Given the description of an element on the screen output the (x, y) to click on. 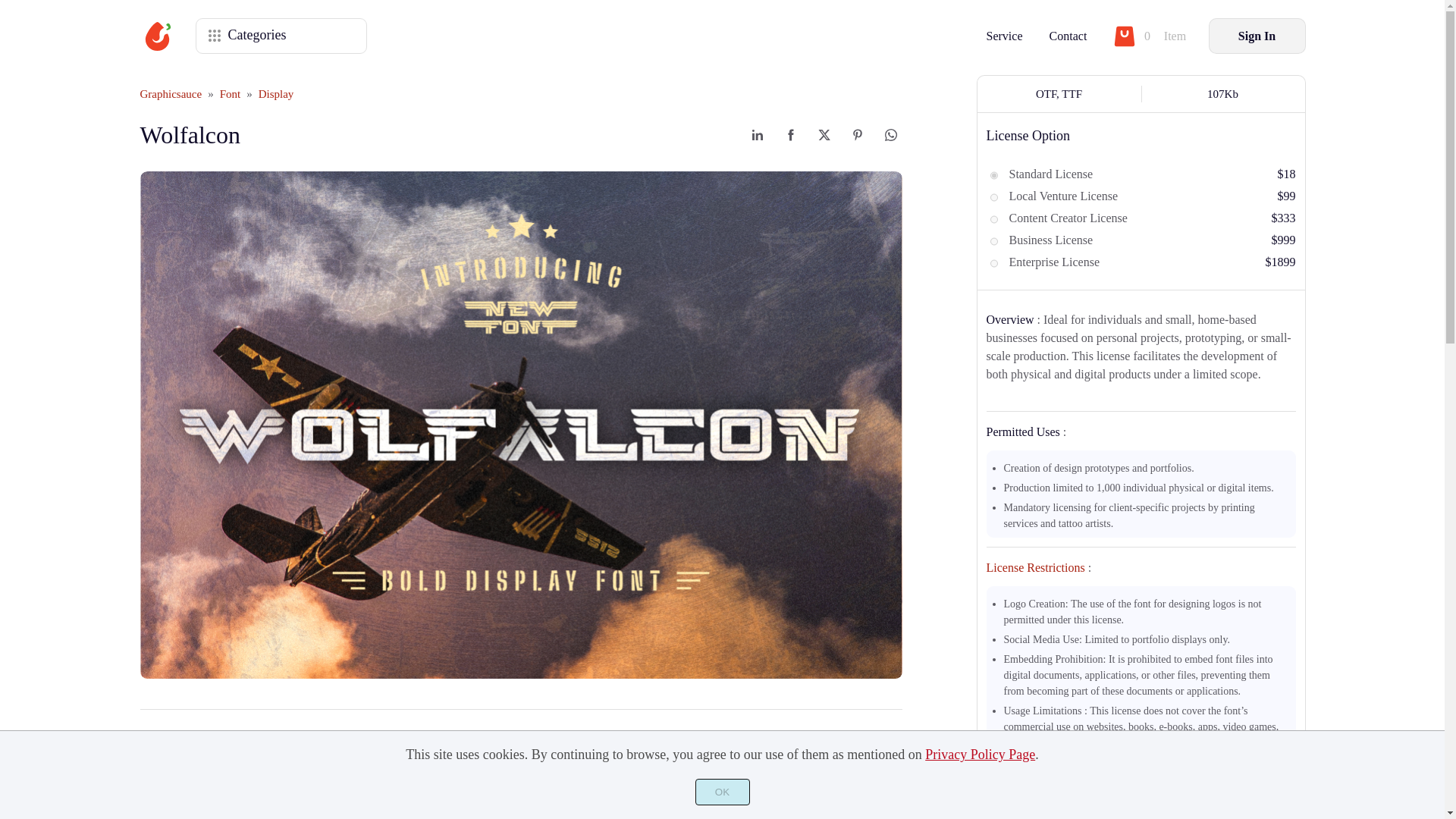
Homepage (170, 93)
Contact GraphicSauce.Co (1067, 36)
GraphicSauce.Co Service (1003, 36)
Display (276, 93)
Share to Pinterest (856, 134)
Font Generator (266, 736)
- (1003, 797)
Font in use (520, 736)
Share to Whatsapp Contact (889, 134)
Tweet it! (822, 134)
